Given the description of an element on the screen output the (x, y) to click on. 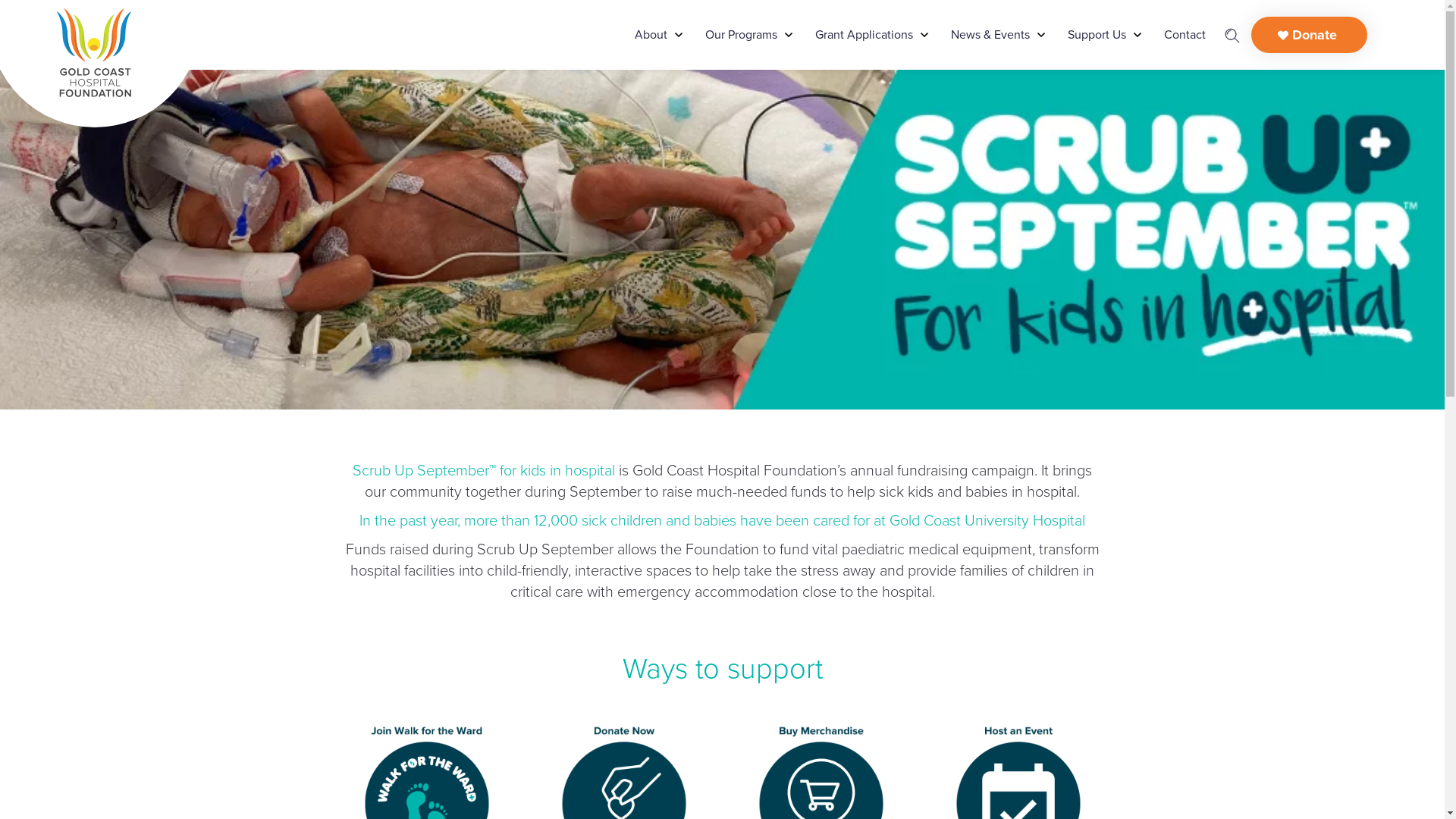
Our Programs Element type: text (741, 34)
Donate Element type: text (1309, 34)
About Element type: text (649, 34)
Group 3 Created with Sketch. Element type: text (1231, 34)
Support Us Element type: text (1096, 34)
Grant Applications Element type: text (863, 34)
News & Events Element type: text (989, 34)
Contact Element type: text (1184, 34)
